Given the description of an element on the screen output the (x, y) to click on. 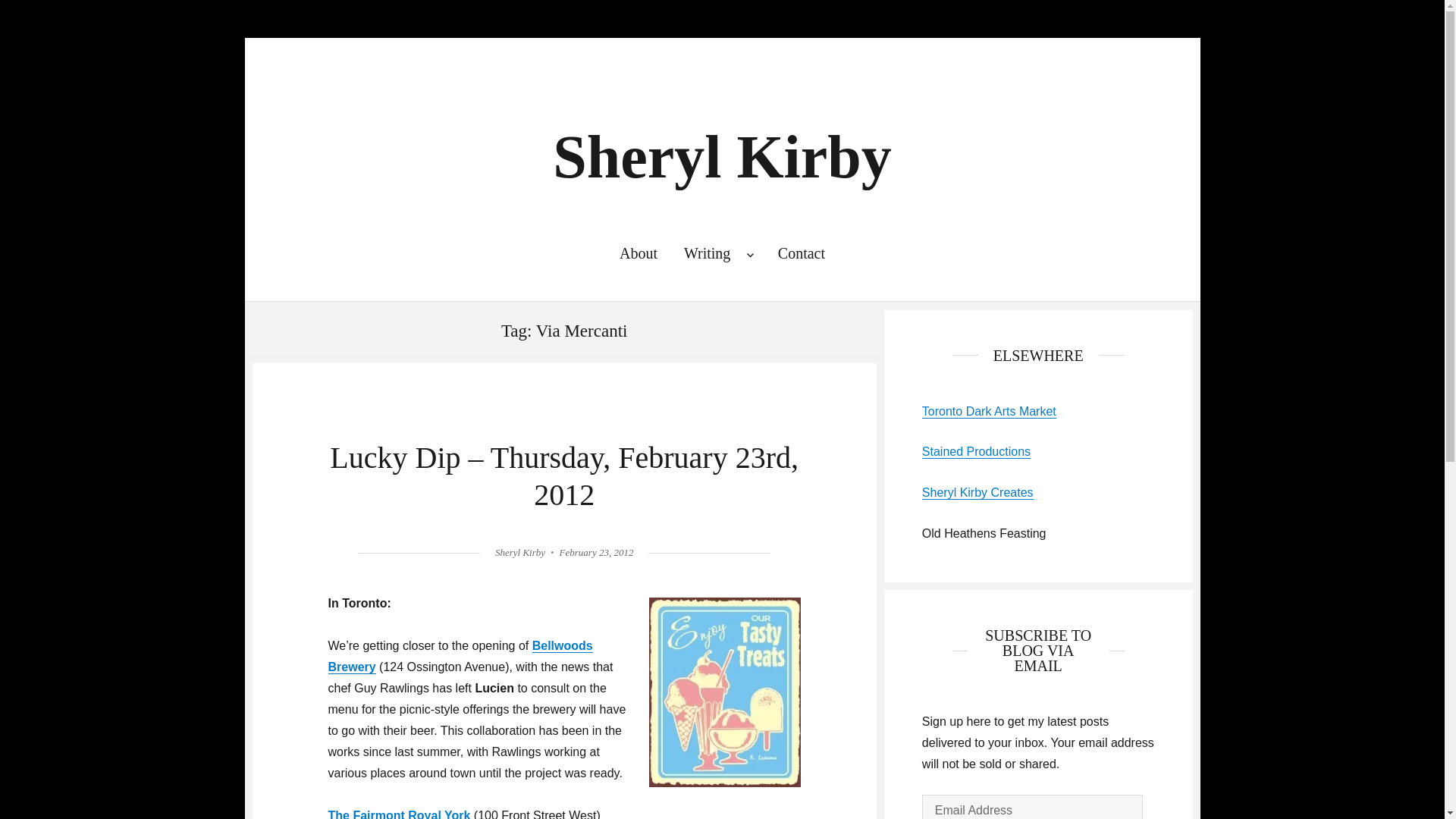
The Fairmont Royal York (398, 814)
Toronto Dark Arts Market (989, 410)
Stained Productions (975, 451)
Contact (801, 253)
About (637, 253)
Sheryl Kirby (519, 552)
Sheryl Kirby (722, 156)
Sheryl Kirby Creates (977, 492)
Writing (716, 253)
February 23, 2012 (596, 552)
Bellwoods Brewery (459, 656)
